Given the description of an element on the screen output the (x, y) to click on. 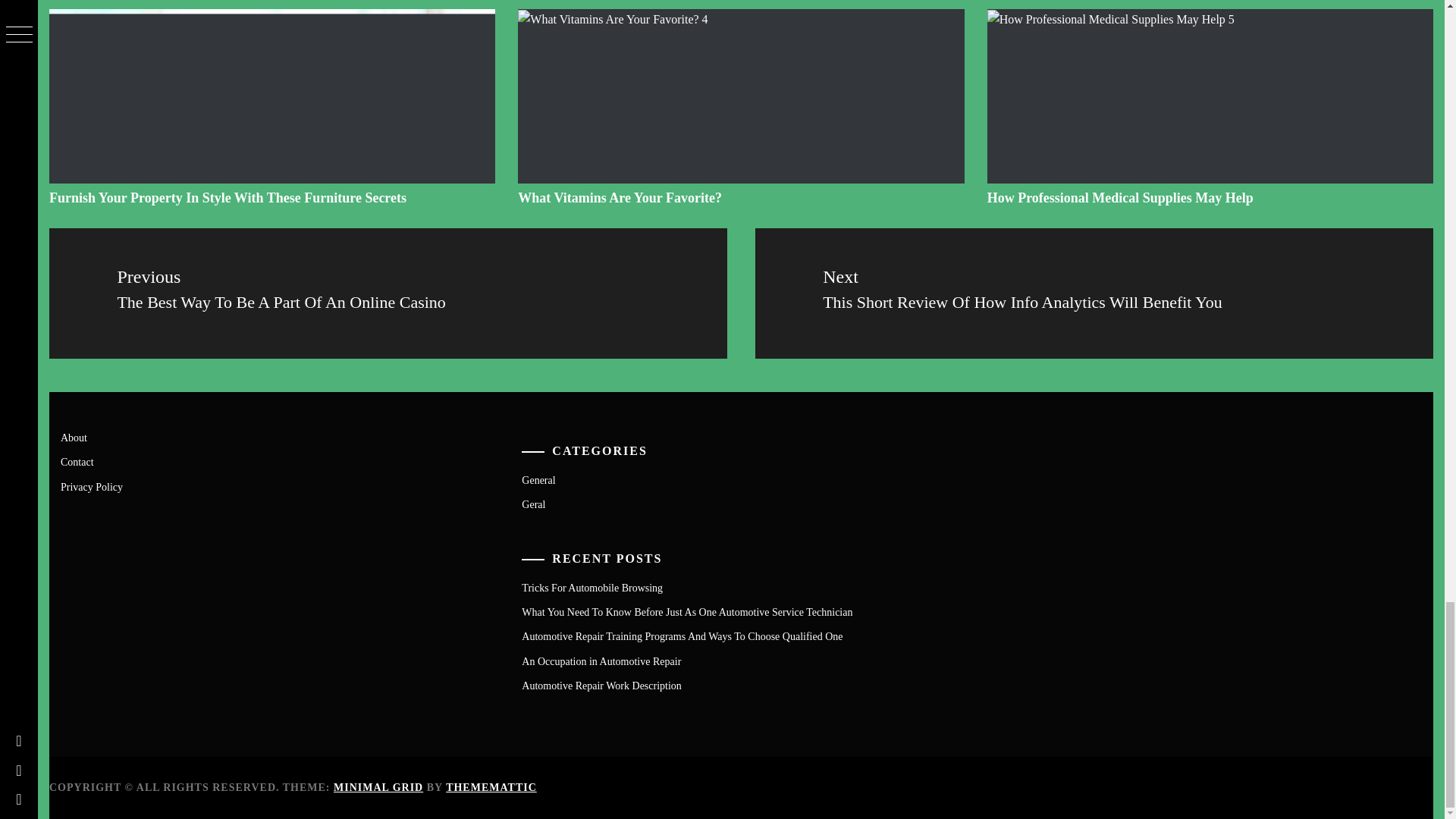
General (537, 480)
Privacy Policy (91, 487)
An Occupation in Automotive Repair (601, 661)
Contact (77, 461)
What Vitamins Are Your Favorite? (620, 197)
Furnish Your Property In Style With These Furniture Secrets (227, 197)
Geral (532, 504)
About (74, 437)
How Professional Medical Supplies May Help (1120, 197)
Tricks For Automobile Browsing (591, 587)
